Given the description of an element on the screen output the (x, y) to click on. 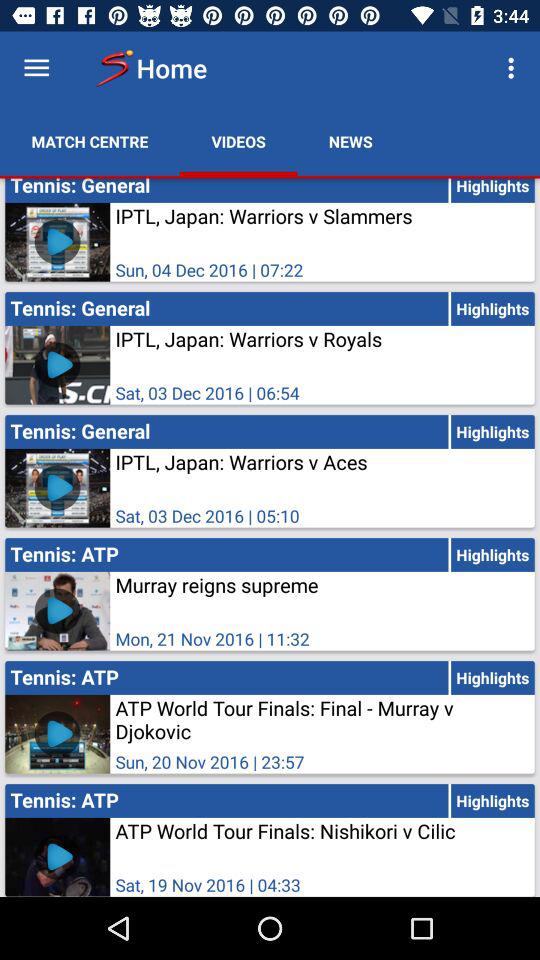
click the item to the right of the match centre (238, 141)
